Given the description of an element on the screen output the (x, y) to click on. 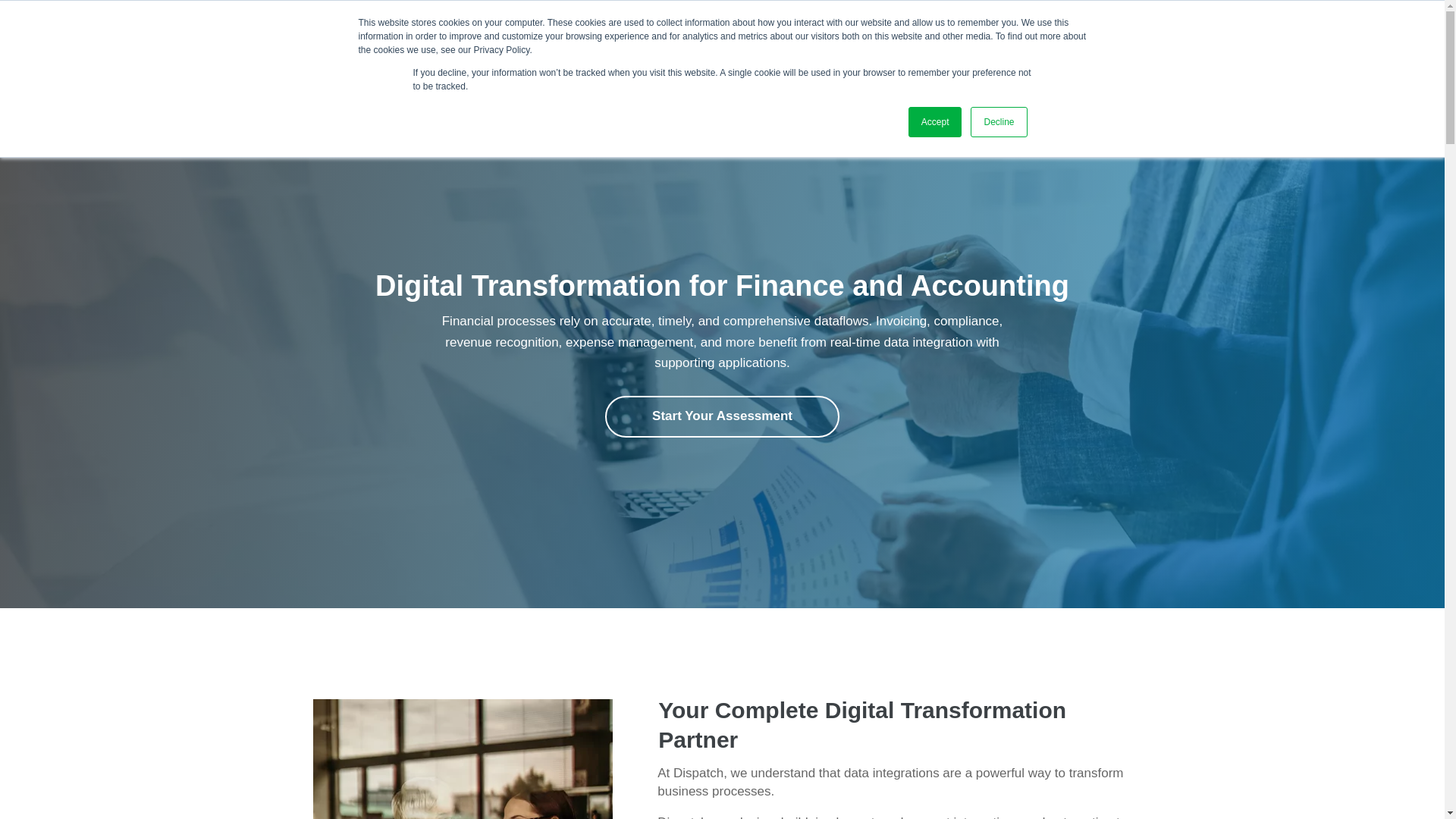
Embedded (716, 65)
8 (462, 759)
Enterprise (494, 65)
Knowledgebase (888, 65)
Contact (1061, 65)
Digital Transformation (604, 65)
About Us (986, 65)
Accept (935, 122)
Decline (998, 122)
Products (791, 65)
